Given the description of an element on the screen output the (x, y) to click on. 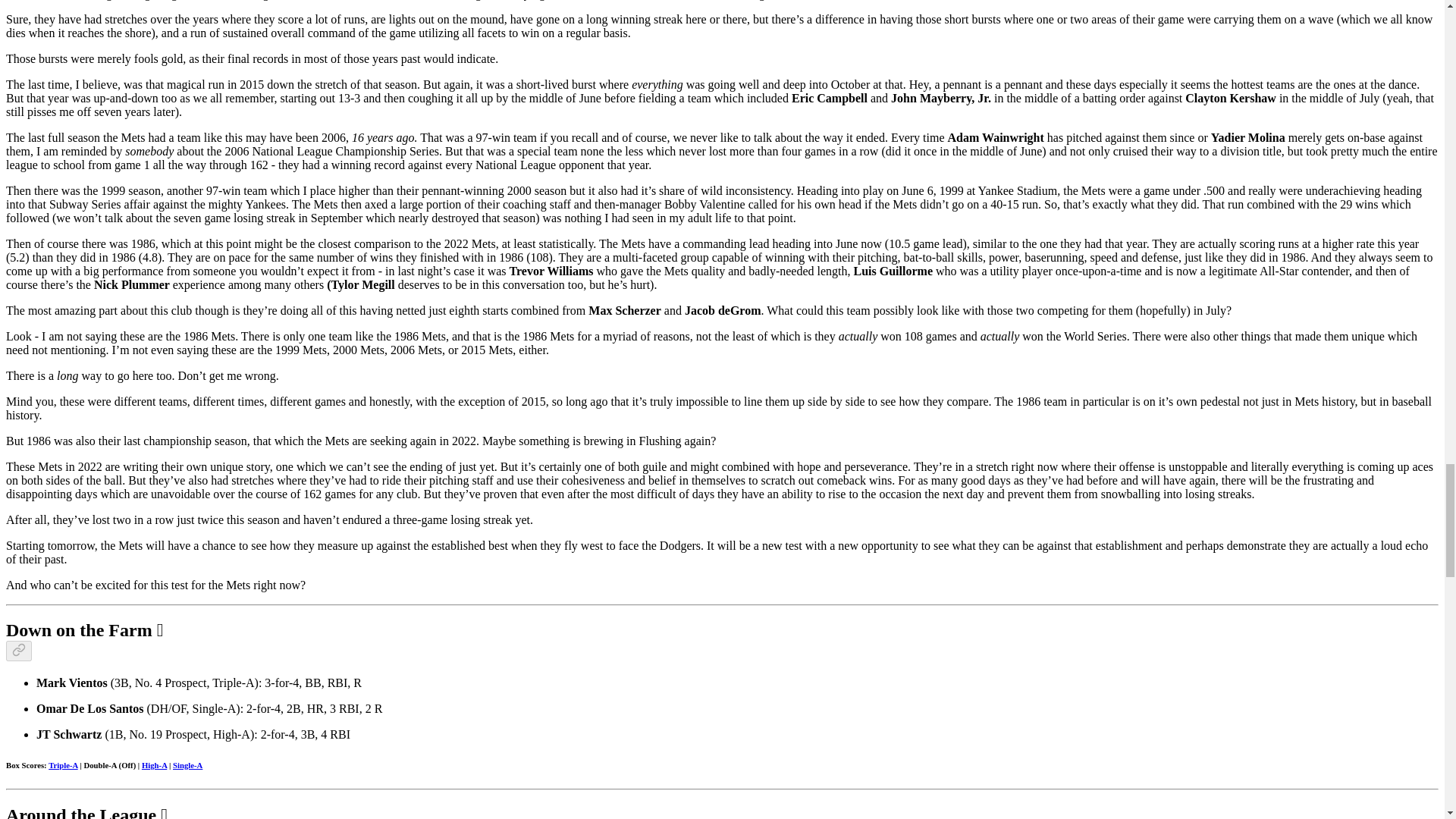
Single-A (187, 764)
Triple-A (63, 764)
High-A (154, 764)
